Given the description of an element on the screen output the (x, y) to click on. 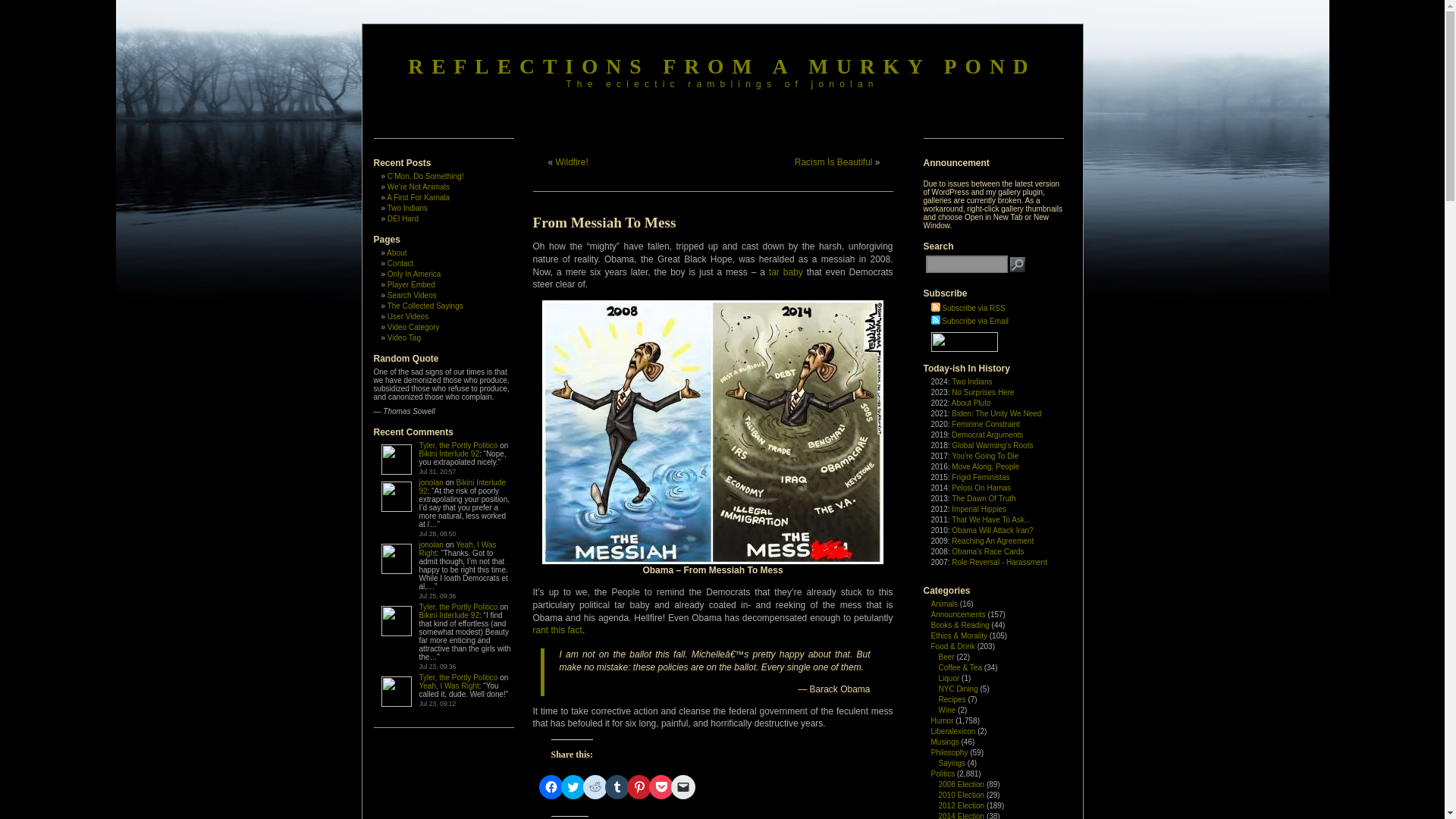
Tyler, the Portly Politico (458, 445)
Video Category (413, 326)
User Videos (407, 316)
Contact (400, 263)
Racism Is Beautiful (833, 162)
jonolan (430, 544)
Two Indians (407, 207)
Bikini Interlude 92 (449, 453)
tar baby (785, 271)
Only In America (414, 274)
Bikini Interlude 92 (462, 486)
About (396, 252)
Yeah, I Was Right (457, 548)
Yeah, I Was Right (449, 685)
Bikini Interlude 92 (449, 614)
